Given the description of an element on the screen output the (x, y) to click on. 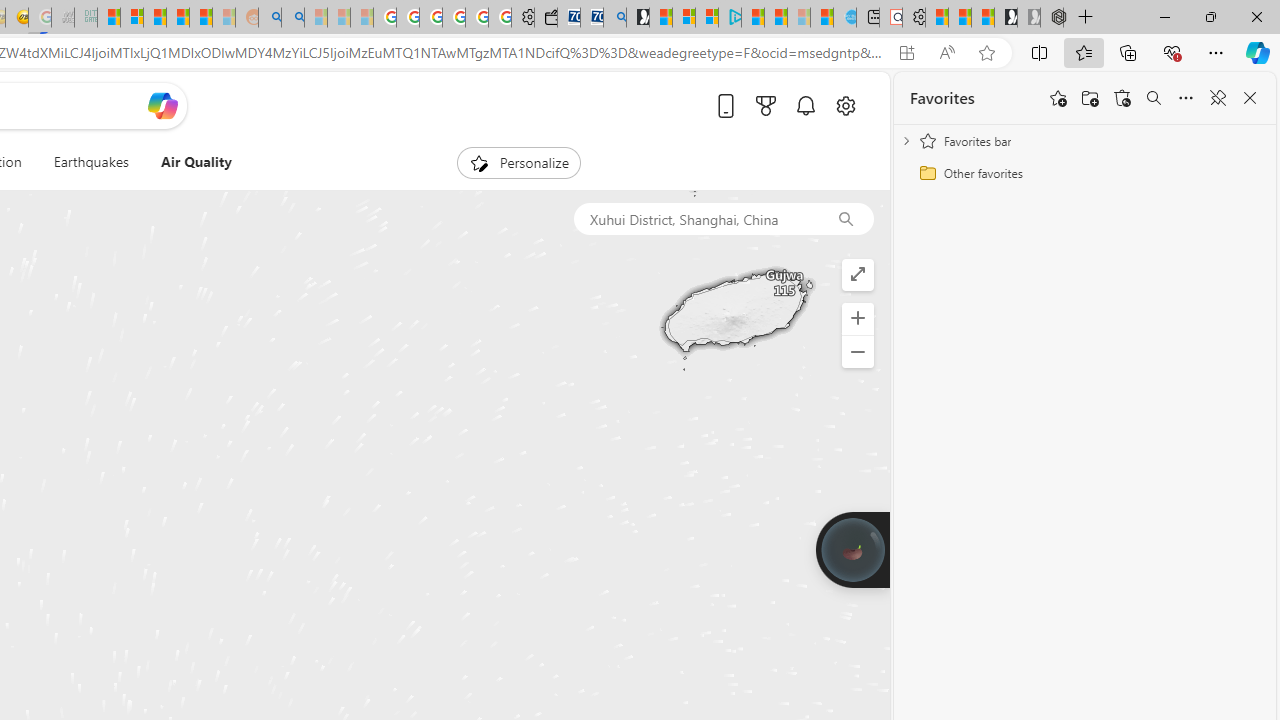
Bing Real Estate - Home sales and rental listings (614, 17)
Close favorites (1250, 98)
DITOGAMES AG Imprint - Sleeping (86, 17)
Earthquakes (90, 162)
Search favorites (1153, 98)
Cheap Car Rentals - Save70.com (591, 17)
Air Quality (195, 162)
